Given the description of an element on the screen output the (x, y) to click on. 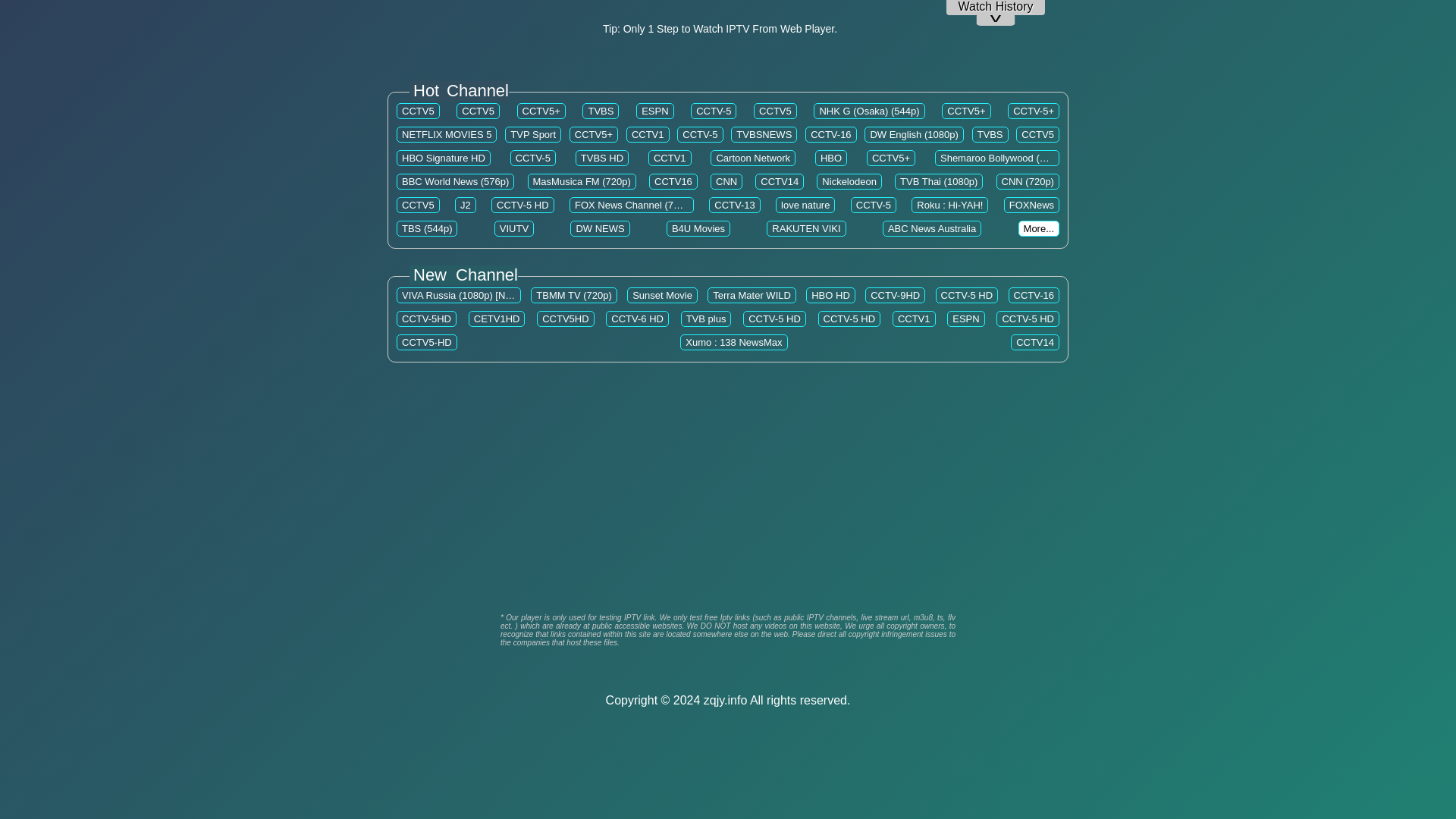
CCTV-5 (712, 111)
CCTV5 (478, 111)
CCTV5 (417, 111)
TVBS (600, 111)
Tip: Only 1 Step to Watch IPTV From Web Player. (719, 28)
ESPN (655, 111)
CCTV-5 (699, 134)
NETFLIX MOVIES 5 (446, 134)
CCTV1 (647, 134)
TVP Sport (533, 134)
CCTV5 (775, 111)
